Given the description of an element on the screen output the (x, y) to click on. 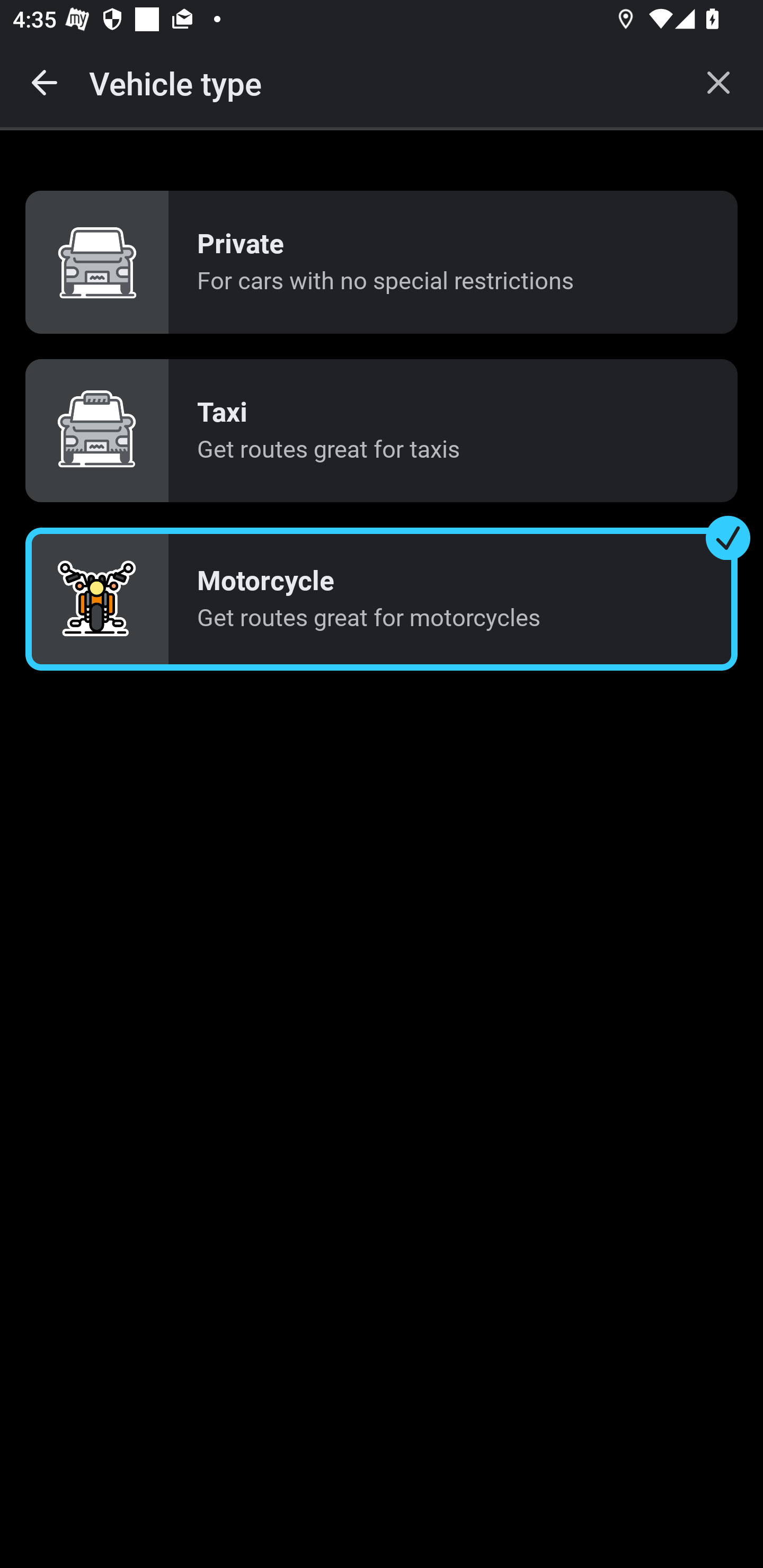
Private For cars with no special restrictions (381, 262)
Taxi Get routes great for taxis (381, 430)
Motorcycle Get routes great for motorcycles (381, 598)
